Given the description of an element on the screen output the (x, y) to click on. 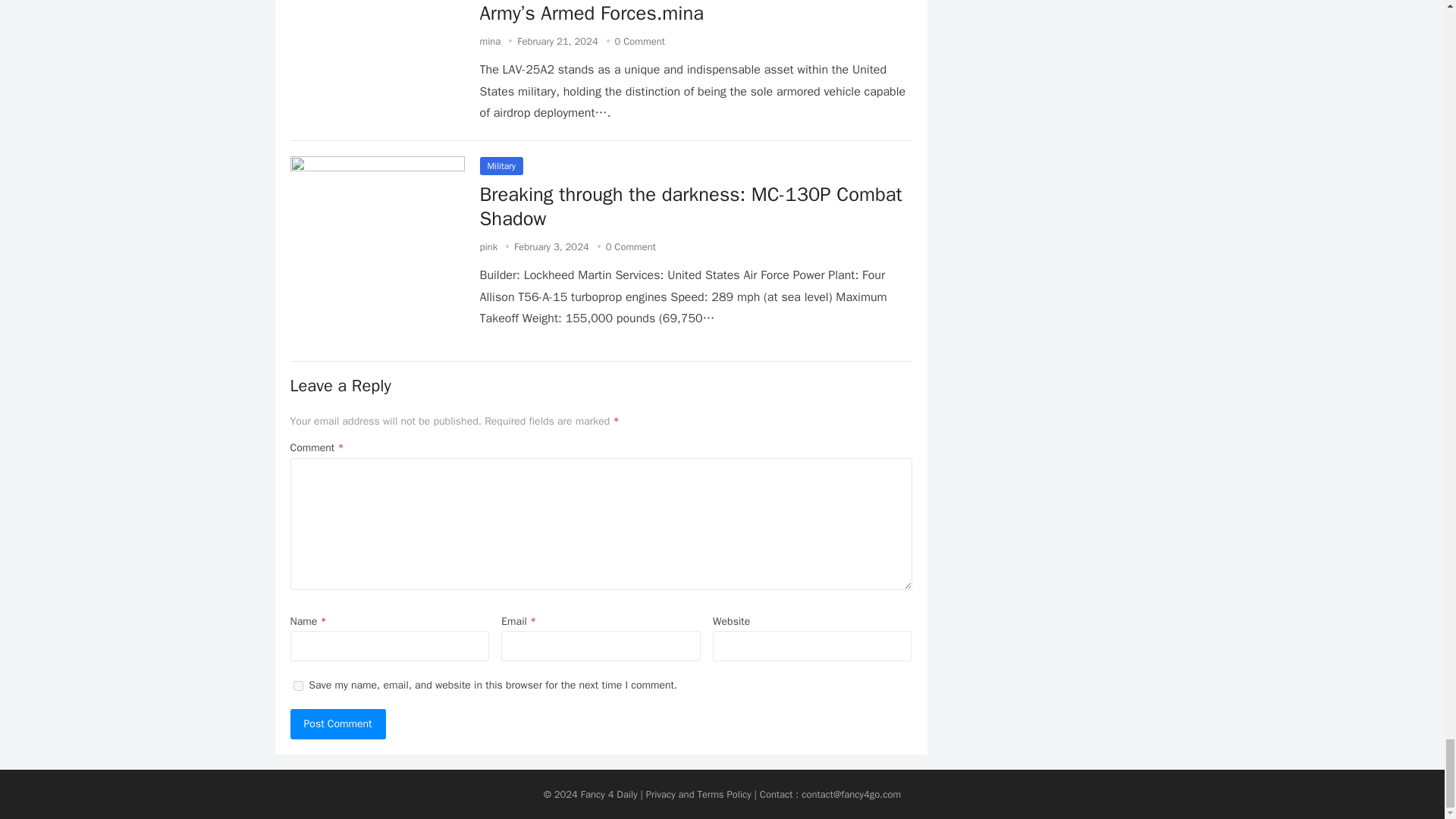
Posts by mina (489, 41)
Posts by pink (488, 246)
yes (297, 685)
Post Comment (337, 724)
